Given the description of an element on the screen output the (x, y) to click on. 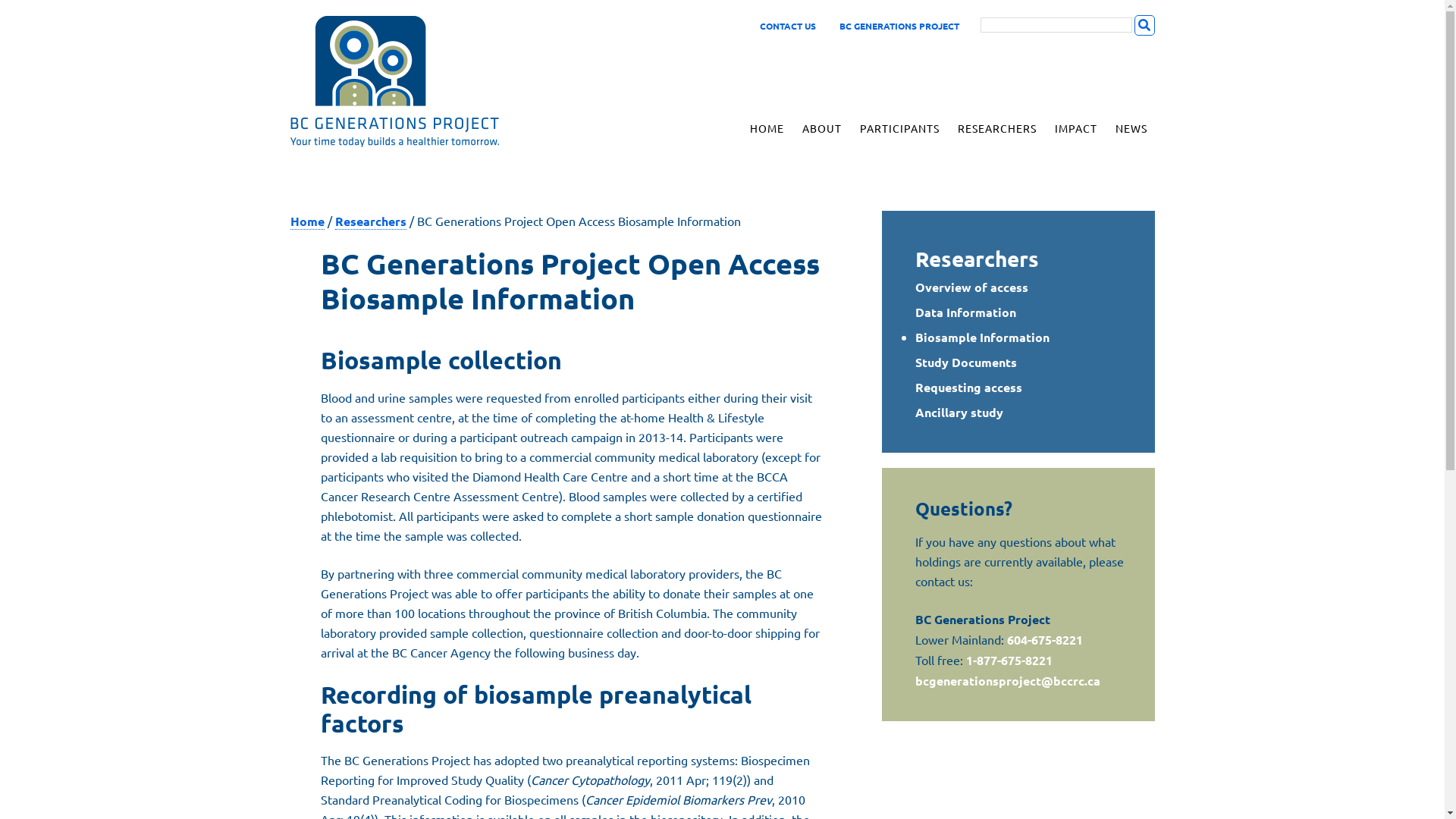
1-877-675-8221 Element type: text (1009, 660)
ABOUT Element type: text (821, 128)
Ancillary study Element type: text (959, 411)
NEWS Element type: text (1130, 128)
Researchers Element type: text (370, 221)
Biosample Information Element type: text (982, 337)
BC GENERATIONS PROJECT Element type: text (419, 81)
RESEARCHERS Element type: text (996, 128)
Researchers Element type: text (976, 257)
Requesting access Element type: text (968, 387)
BC GENERATIONS PROJECT Element type: text (898, 25)
Home Element type: text (306, 221)
Overview of access Element type: text (971, 286)
Data Information Element type: text (965, 311)
bcgenerationsproject@bccrc.ca Element type: text (1007, 680)
IMPACT Element type: text (1075, 128)
Study Documents Element type: text (965, 361)
PARTICIPANTS Element type: text (899, 128)
HOME Element type: text (765, 128)
CONTACT US Element type: text (787, 25)
604-675-8221 Element type: text (1044, 639)
